Given the description of an element on the screen output the (x, y) to click on. 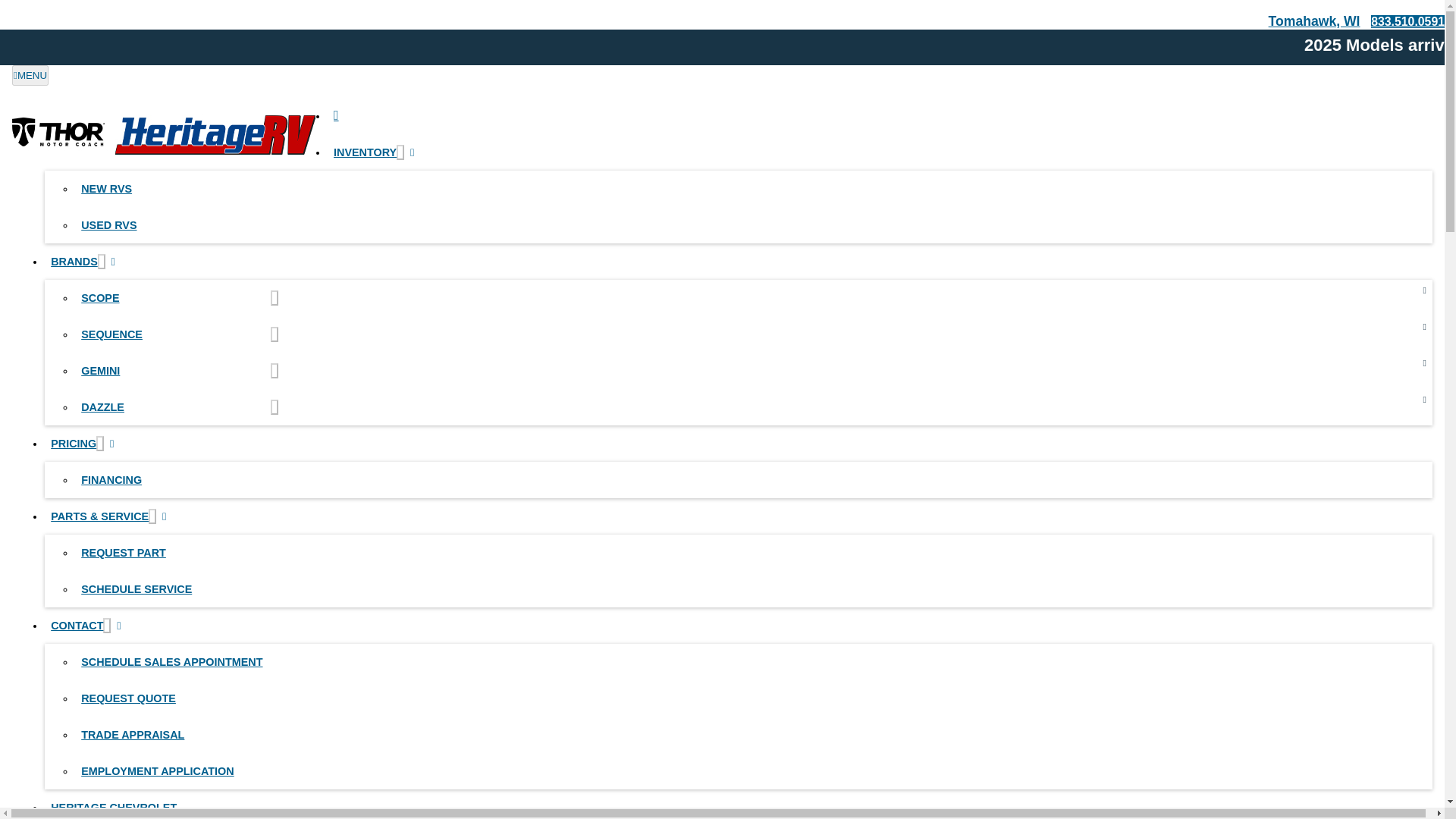
EMPLOYMENT APPLICATION (172, 770)
TRADE APPRAISAL (172, 734)
Tomahawk, WI (1313, 20)
REQUEST PART (172, 552)
SCOPE (172, 298)
NEW RVS (172, 188)
DAZZLE (172, 407)
Heritage RV (163, 134)
SEQUENCE (172, 334)
REQUEST QUOTE (172, 698)
PRICING (70, 443)
INVENTORY (361, 152)
BRANDS (71, 261)
USED RVS (172, 225)
HERITAGE CHEVROLET (114, 804)
